Given the description of an element on the screen output the (x, y) to click on. 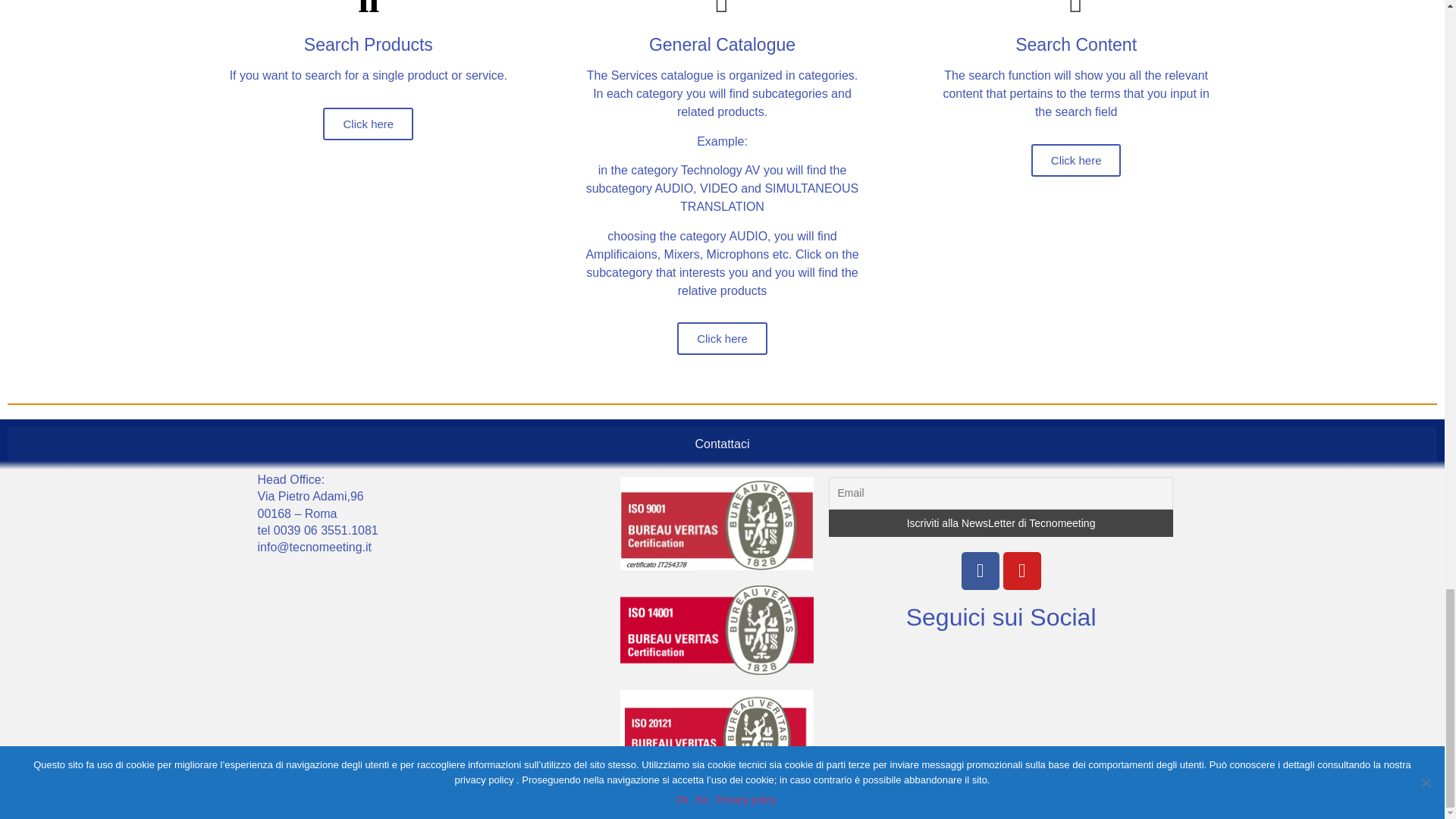
Iscriviti alla NewsLetter di Tecnomeeting (1000, 523)
